Given the description of an element on the screen output the (x, y) to click on. 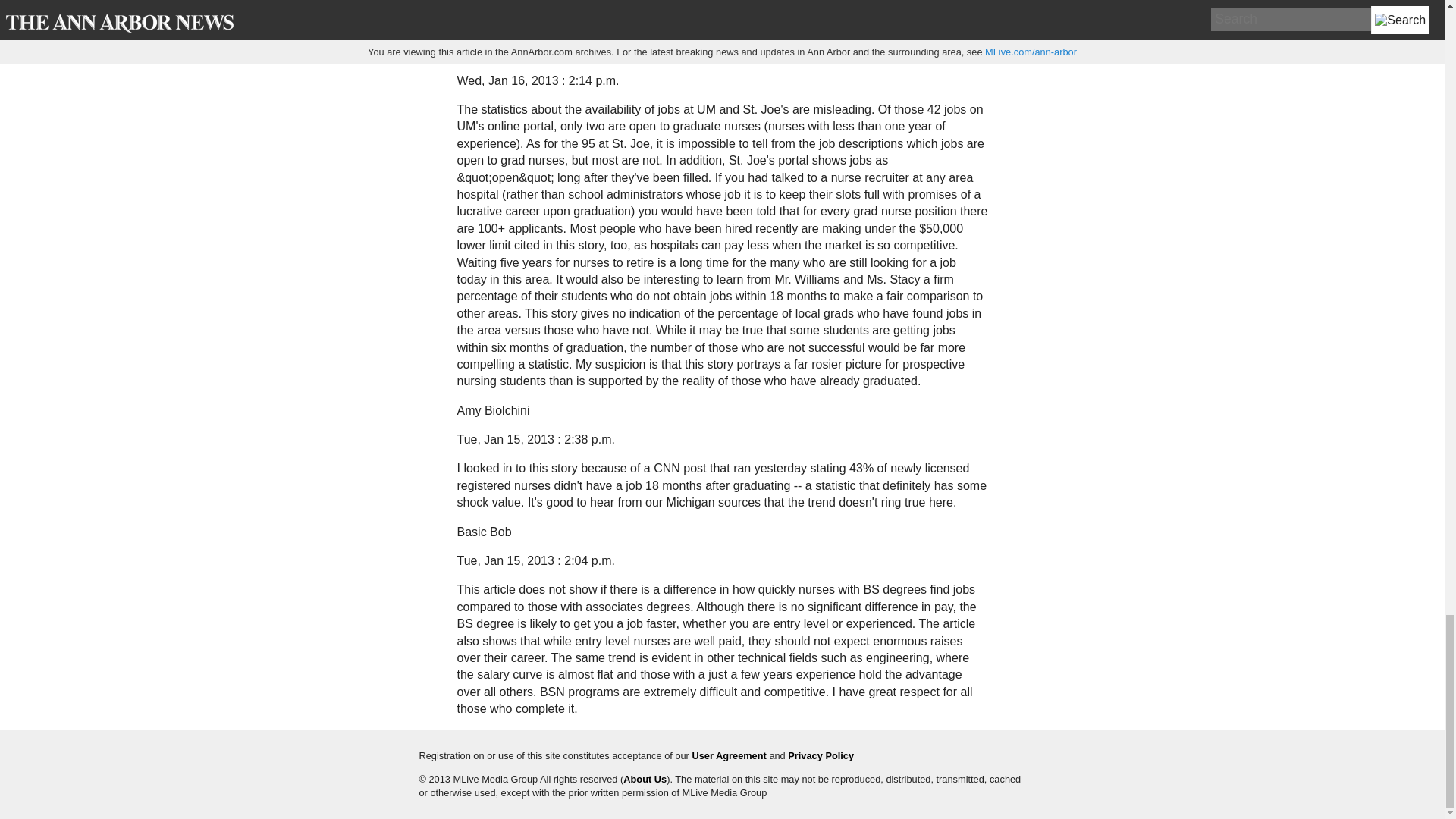
About Us (644, 778)
Privacy Policy (820, 755)
User Agreement (728, 755)
